Given the description of an element on the screen output the (x, y) to click on. 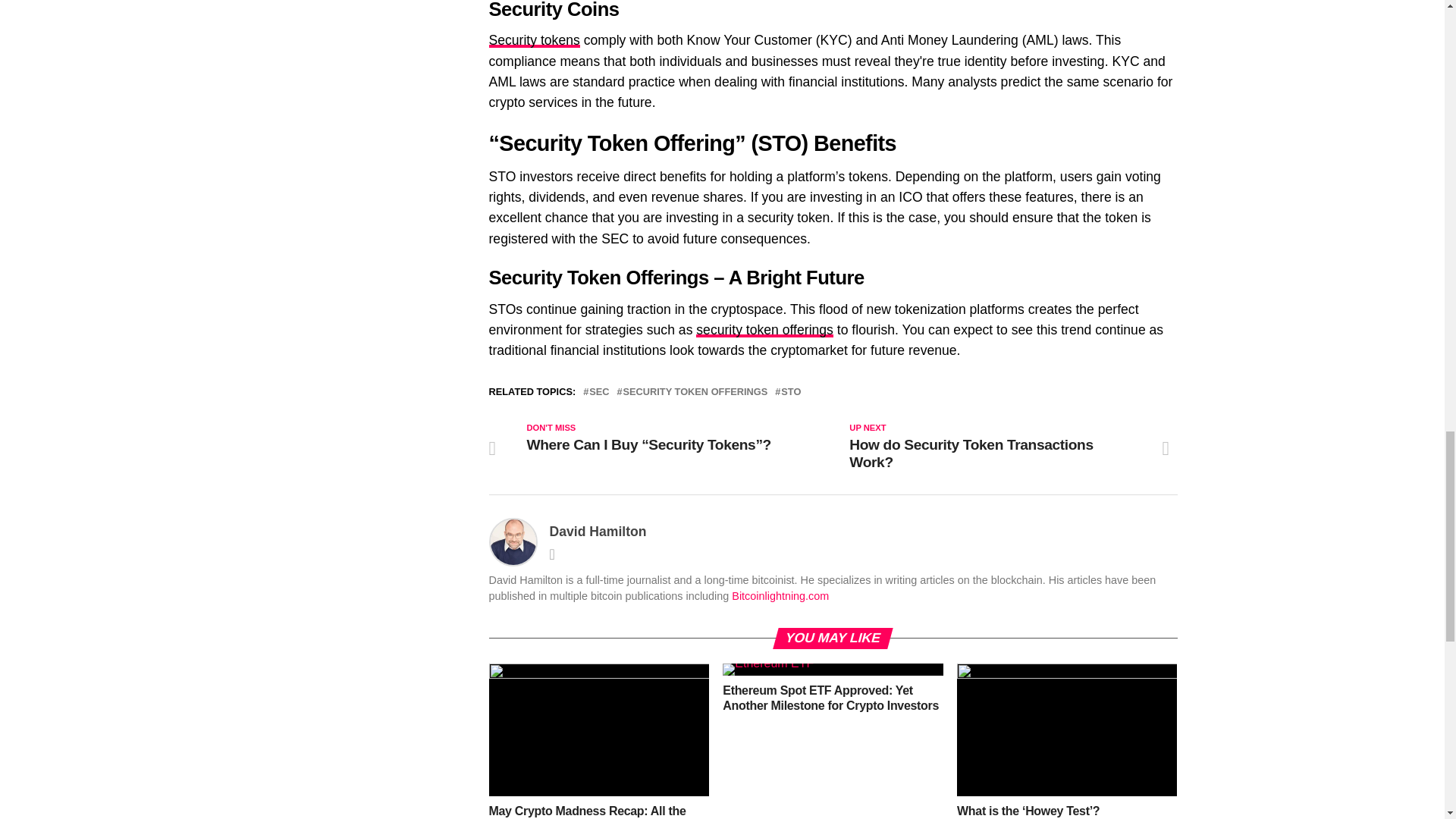
Posts by David Hamilton (597, 530)
Bitcoinlightning (780, 595)
